Given the description of an element on the screen output the (x, y) to click on. 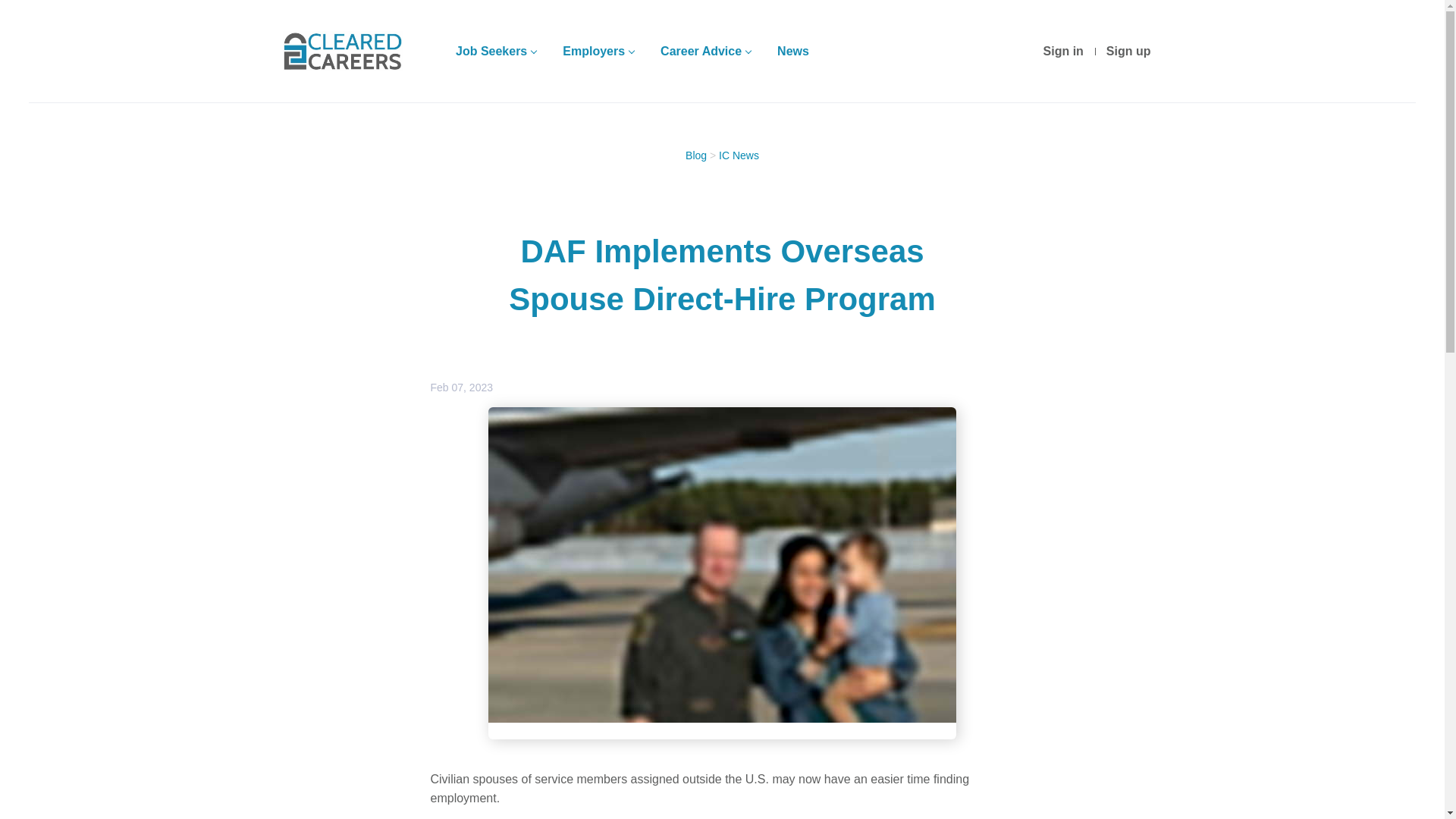
Job Seekers (495, 51)
Sign up (1128, 51)
Sign in (1063, 51)
Career Advice (706, 51)
Employers (597, 51)
Blog (695, 155)
IC News (738, 155)
News (793, 51)
